Given the description of an element on the screen output the (x, y) to click on. 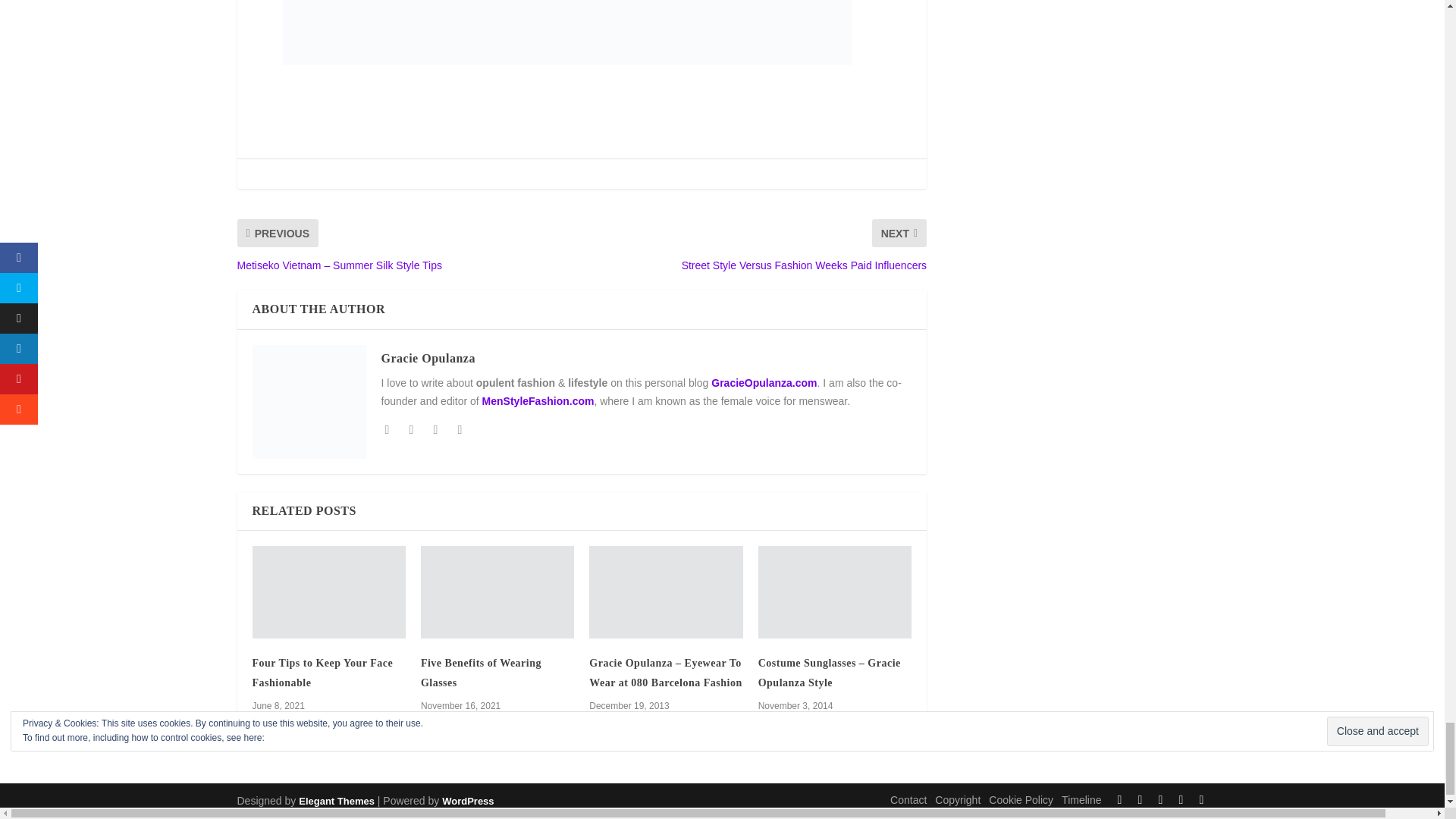
Four Tips to Keep Your Face Fashionable (327, 592)
Five Benefits of Wearing Glasses (496, 592)
View all posts by Gracie Opulanza (427, 358)
